Given the description of an element on the screen output the (x, y) to click on. 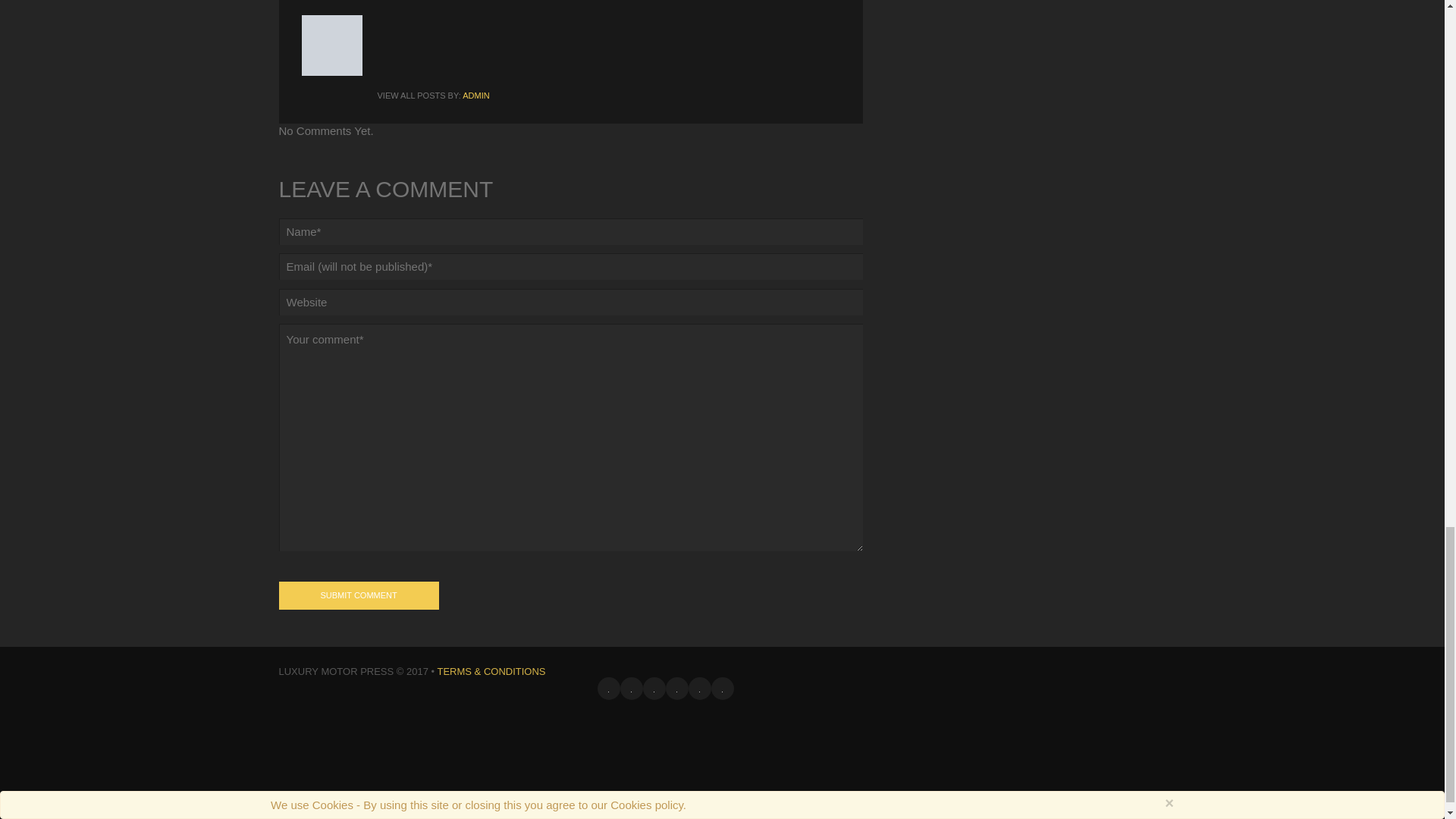
Posts by admin (476, 94)
Submit Comment (359, 595)
Website (571, 302)
